Given the description of an element on the screen output the (x, y) to click on. 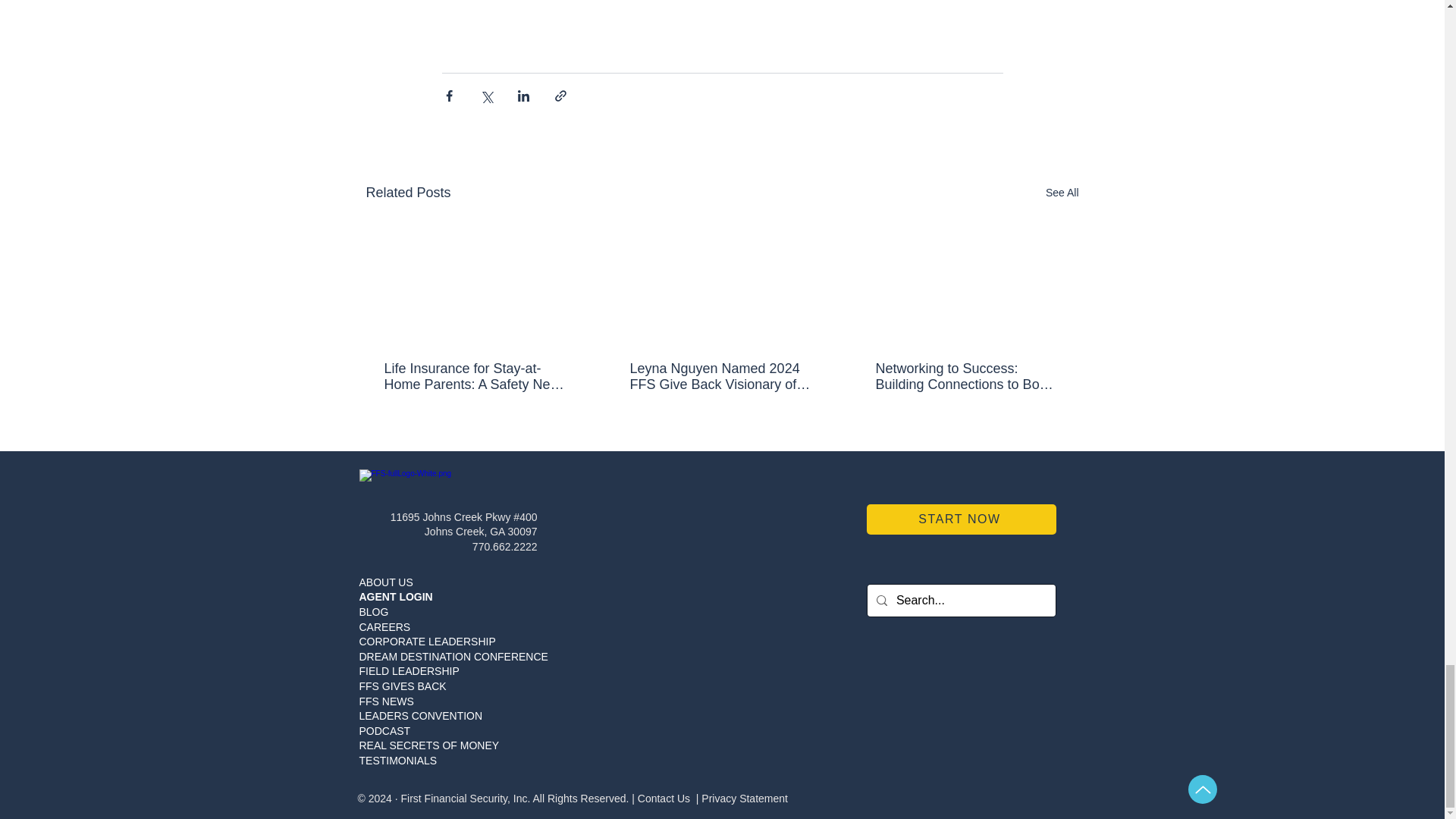
CAREERS (384, 626)
DREAM DESTINATION CONFERENCE (453, 656)
PODCAST (384, 730)
AGENT LOGIN (395, 596)
FFS NEWS (386, 701)
LEADERS CONVENTION (421, 715)
REAL SECRETS OF MONEY (429, 745)
FFS GIVES BACK (402, 686)
TESTIMONIALS (398, 760)
